Given the description of an element on the screen output the (x, y) to click on. 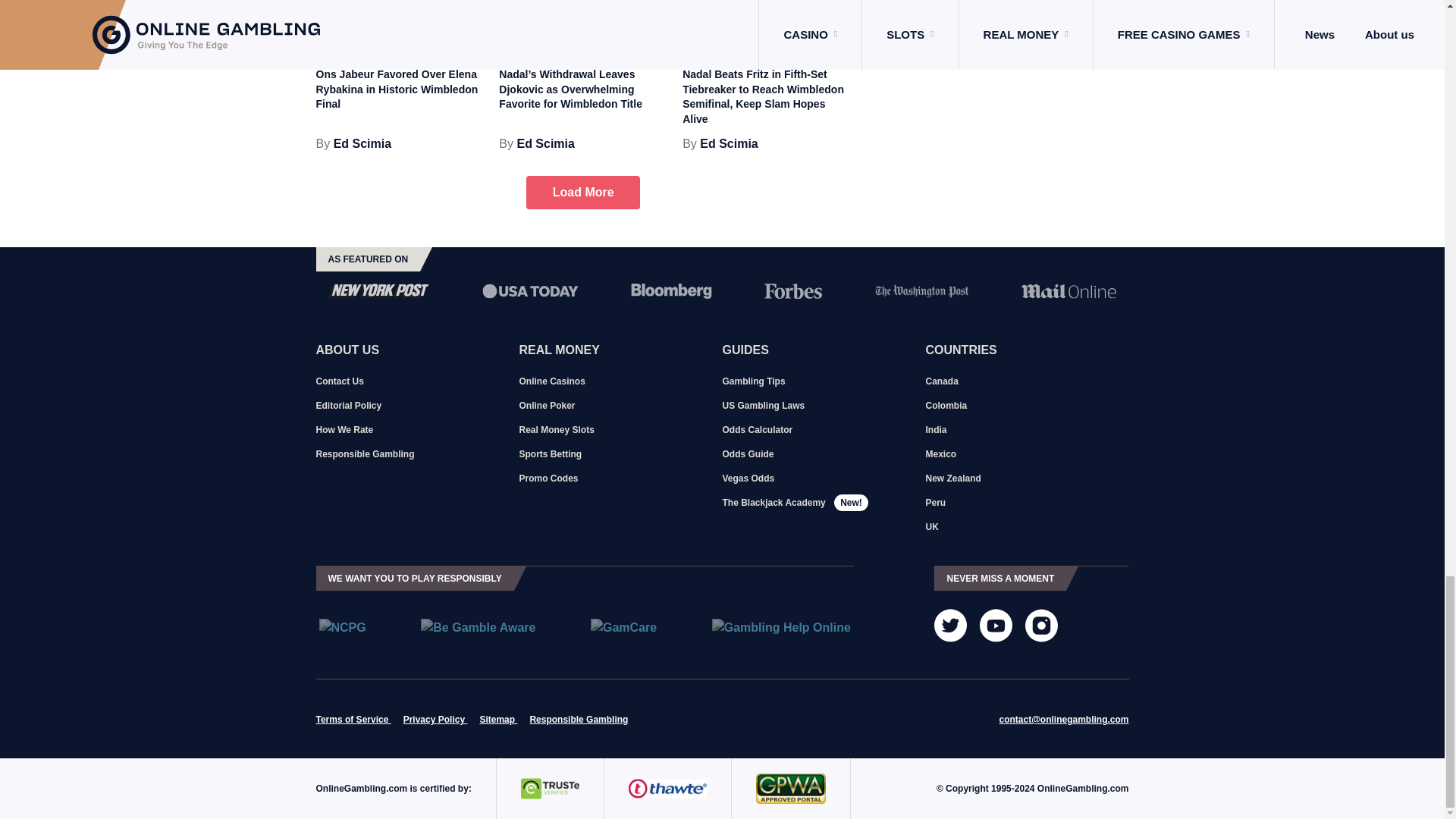
Sports Betting (801, 43)
Sports Betting (434, 43)
Sports Betting (617, 43)
